Given the description of an element on the screen output the (x, y) to click on. 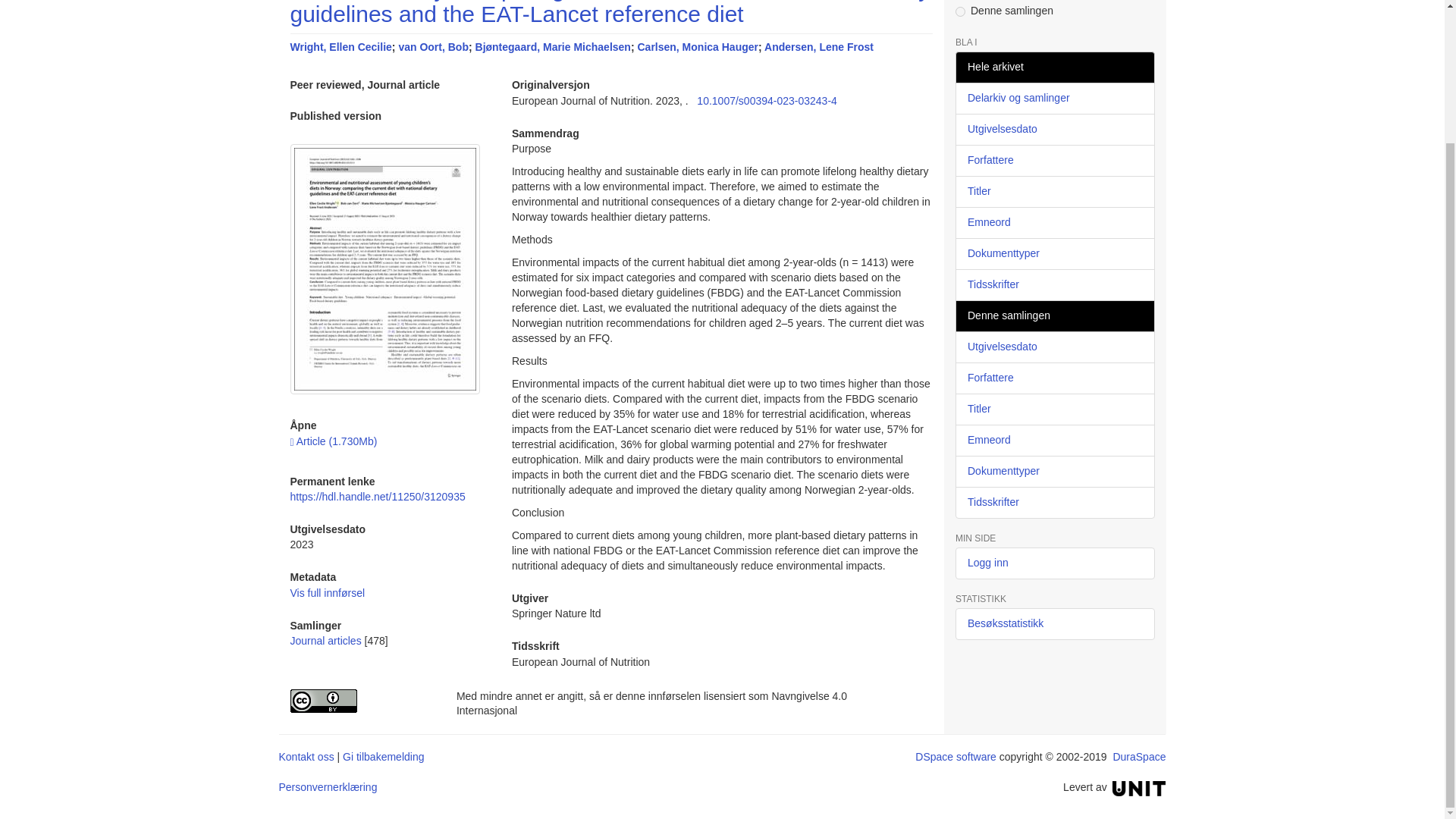
Andersen, Lene Frost (818, 46)
Journal articles (325, 640)
Hele arkivet (1054, 67)
Carlsen, Monica Hauger (697, 46)
van Oort, Bob (432, 46)
Unit (1139, 787)
Delarkiv og samlinger (1054, 98)
Wright, Ellen Cecilie (340, 46)
Navngivelse 4.0 Internasjonal (360, 699)
